Given the description of an element on the screen output the (x, y) to click on. 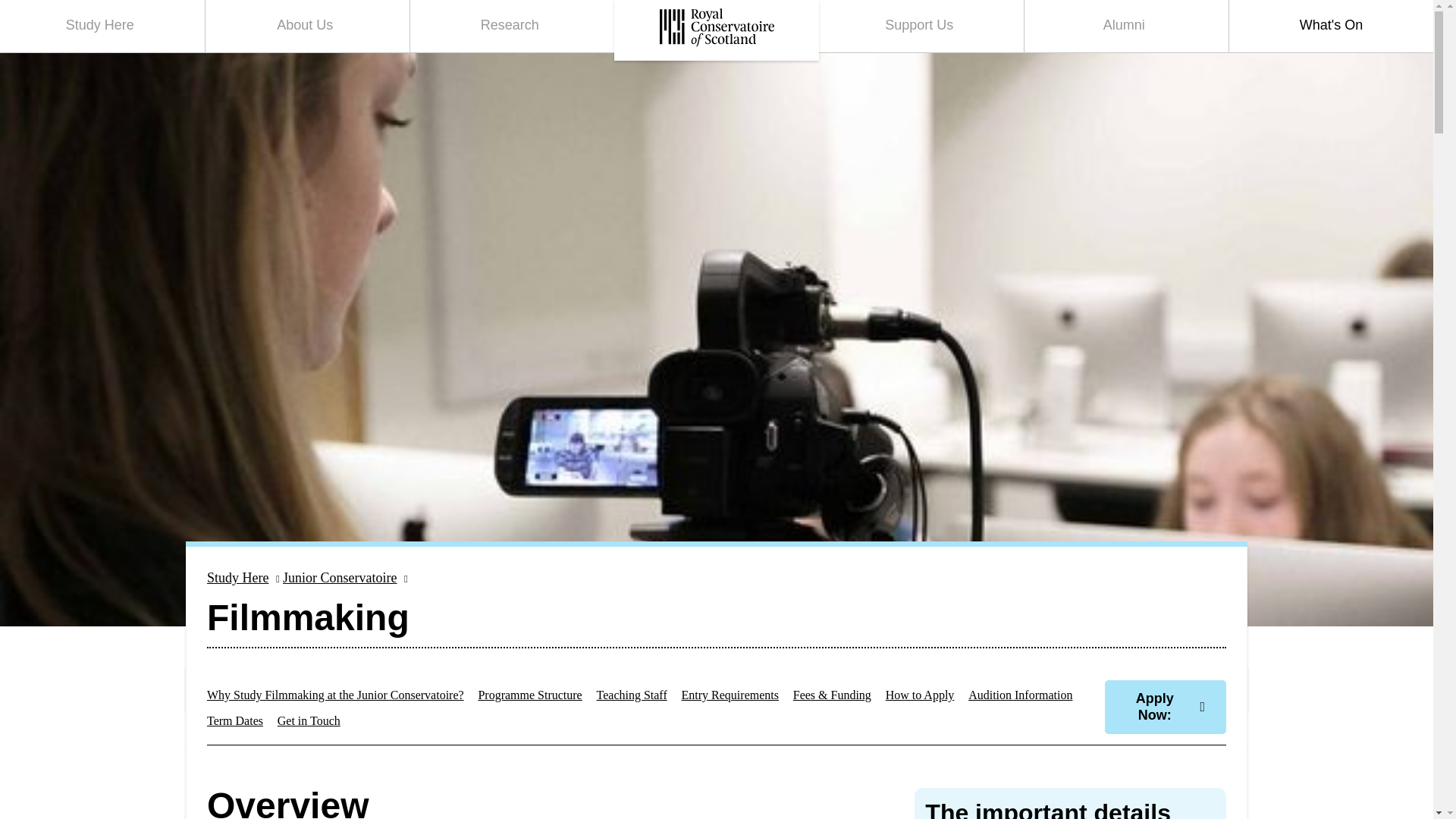
Royal Conservatoire of Scotland (716, 30)
Royal Conservatoire of Scotland (102, 26)
